Given the description of an element on the screen output the (x, y) to click on. 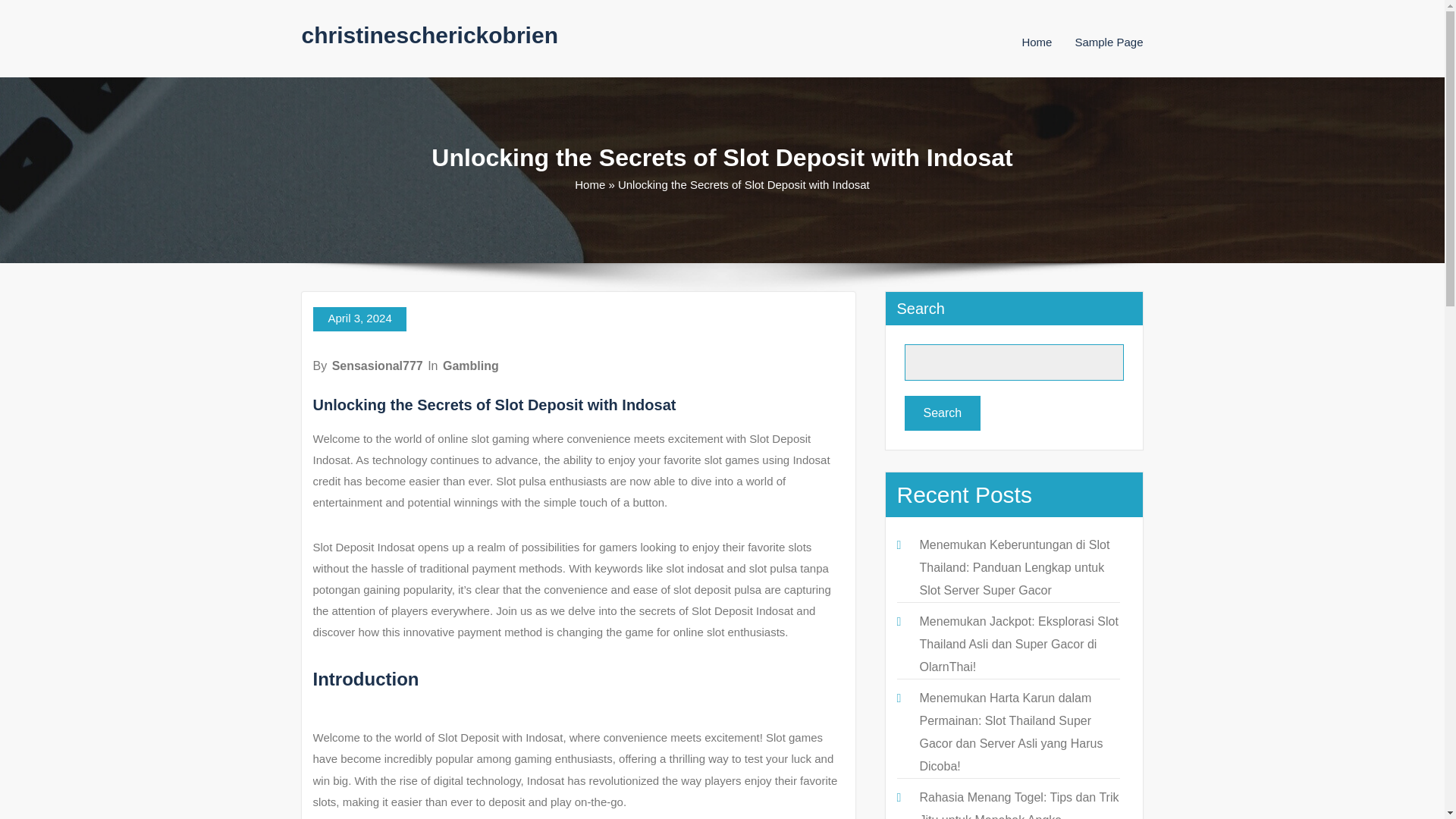
Gambling (470, 365)
April 3, 2024 (359, 319)
Home (1036, 41)
Search (941, 412)
Rahasia Menang Togel: Tips dan Trik Jitu untuk Menebak Angka (1018, 805)
Sample Page (1108, 41)
Home (1036, 41)
Home (590, 184)
christinescherickobrien (429, 34)
